Given the description of an element on the screen output the (x, y) to click on. 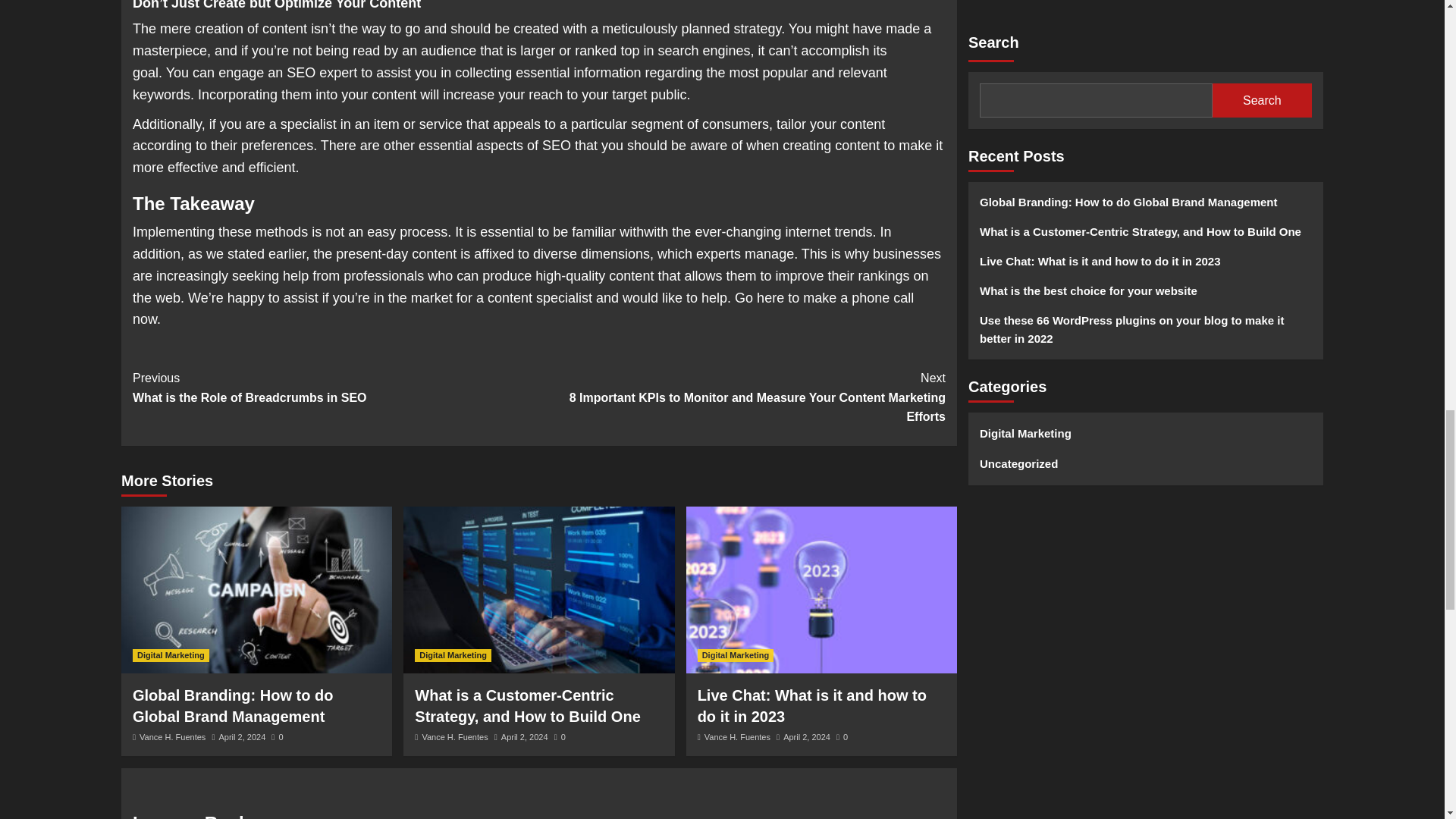
Vance H. Fuentes (172, 737)
April 2, 2024 (524, 737)
Digital Marketing (170, 655)
Vance H. Fuentes (454, 737)
Vance H. Fuentes (737, 737)
Global Branding: How to do Global Brand Management (232, 705)
April 2, 2024 (806, 737)
0 (276, 737)
Live Chat: What is it and how to do it in 2023 (811, 705)
